Given the description of an element on the screen output the (x, y) to click on. 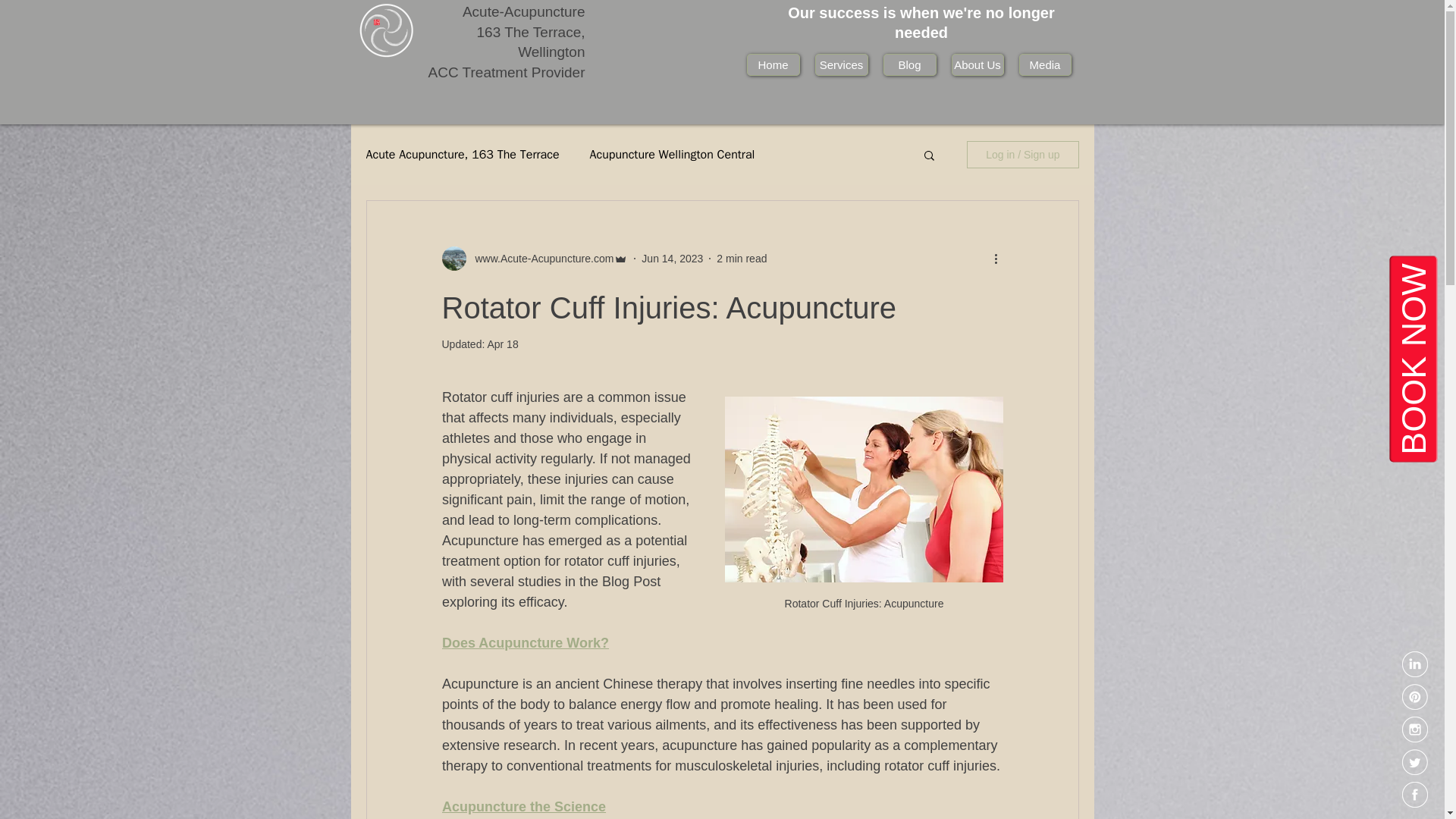
www.Acute-Acupuncture.com (534, 258)
Home (772, 65)
2 min read (741, 258)
Services (840, 65)
Blog (909, 65)
163 The Terrace, Wellington (531, 42)
ACC Treatment Provider (506, 72)
Acupuncture Wellington Central (672, 154)
Does Acupuncture Work? (524, 642)
Media (1045, 65)
Acute-Acupuncture (524, 11)
Acute Acupuncture, 163 The Terrace (462, 154)
Jun 14, 2023 (672, 258)
www.Acute-Acupuncture.com (538, 258)
Acupuncture the Science (523, 806)
